Given the description of an element on the screen output the (x, y) to click on. 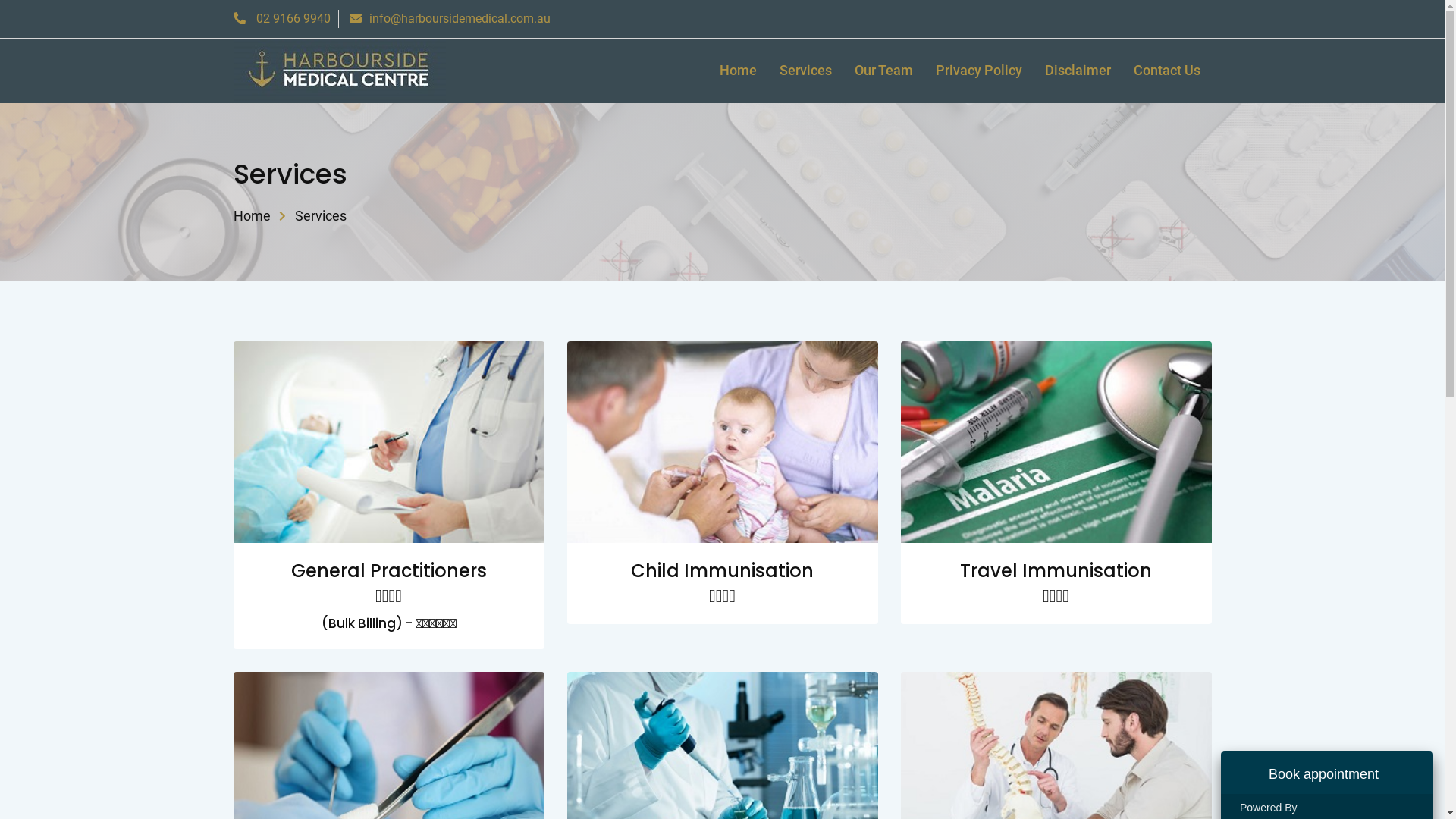
Disclaimer Element type: text (1076, 70)
Home Element type: text (738, 70)
02 9166 9940 Element type: text (281, 18)
Our Team Element type: text (883, 70)
Services Element type: text (804, 70)
Privacy Policy Element type: text (977, 70)
Home Element type: text (251, 215)
info@harboursidemedical.com.au Element type: text (448, 18)
Contact Us Element type: text (1166, 70)
